Given the description of an element on the screen output the (x, y) to click on. 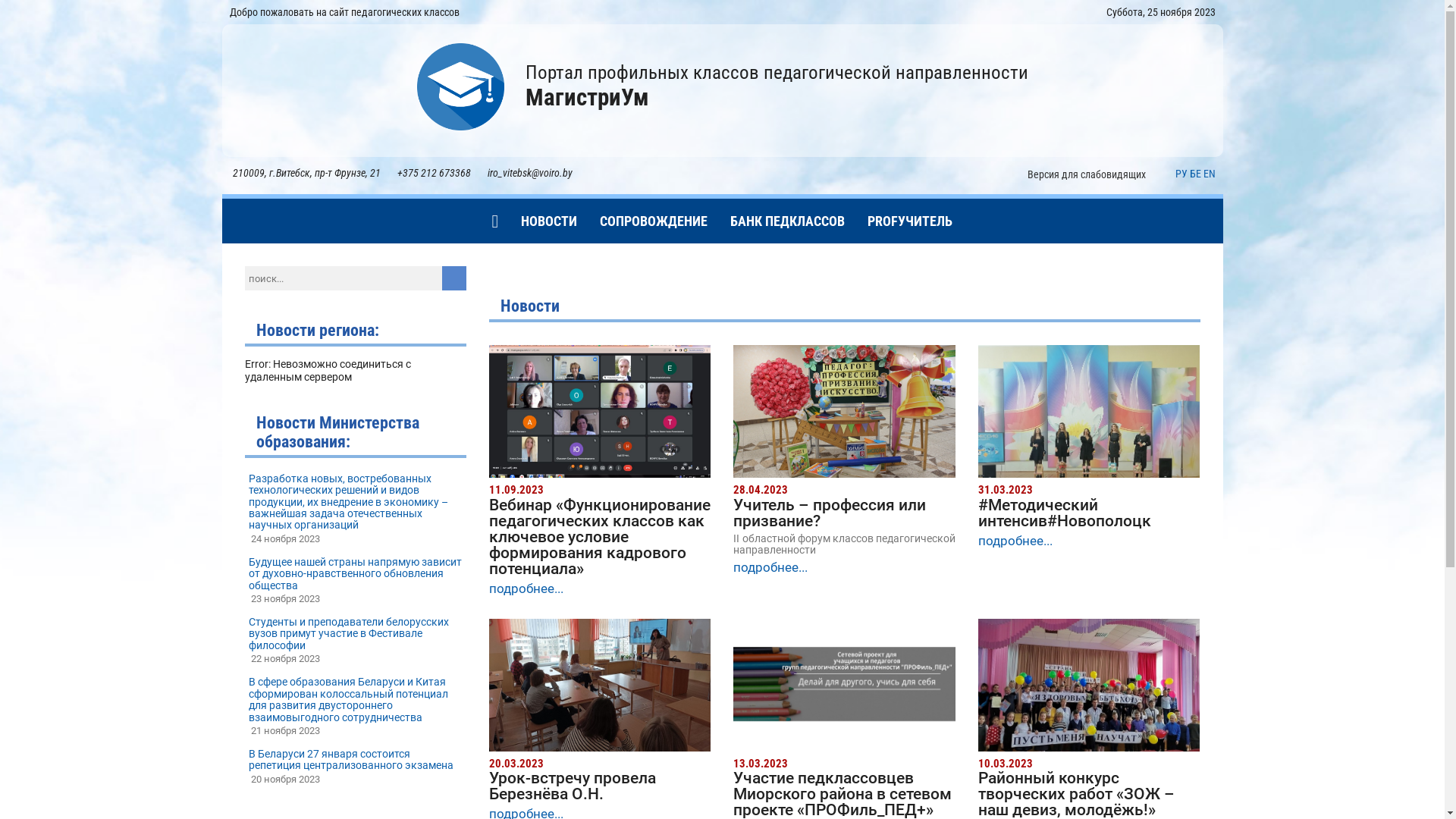
EN Element type: text (1208, 173)
